Given the description of an element on the screen output the (x, y) to click on. 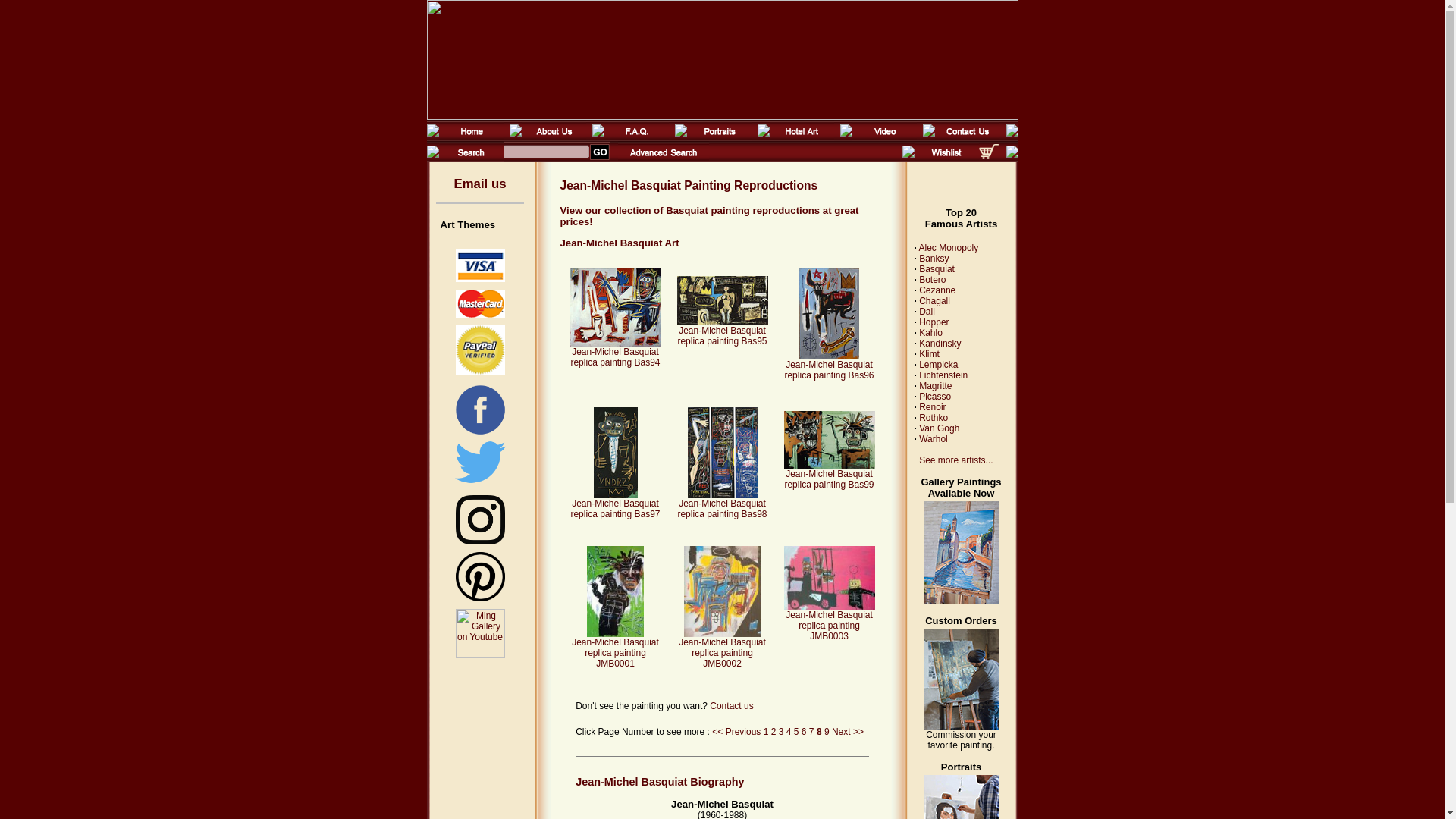
Ming Gallery Home (470, 137)
Email us (478, 184)
Jean-Michel Basquiat replica painting JMB0002 (721, 648)
Jean-Michel Basquiat replica painting Bas95 (722, 331)
Video (884, 137)
Ming Gallery Official Facebook Page (479, 433)
Jean-Michel Basquiat replica painting Bas94 (615, 352)
Contact us (731, 706)
Ming Gallery on Twitter (479, 461)
Portraits (719, 137)
Hotel Art (802, 137)
Contact Us (966, 137)
Alec Monopoly (948, 247)
Email us (478, 184)
Jean-Michel Basquiat replica painting JMB0003 (829, 621)
